Given the description of an element on the screen output the (x, y) to click on. 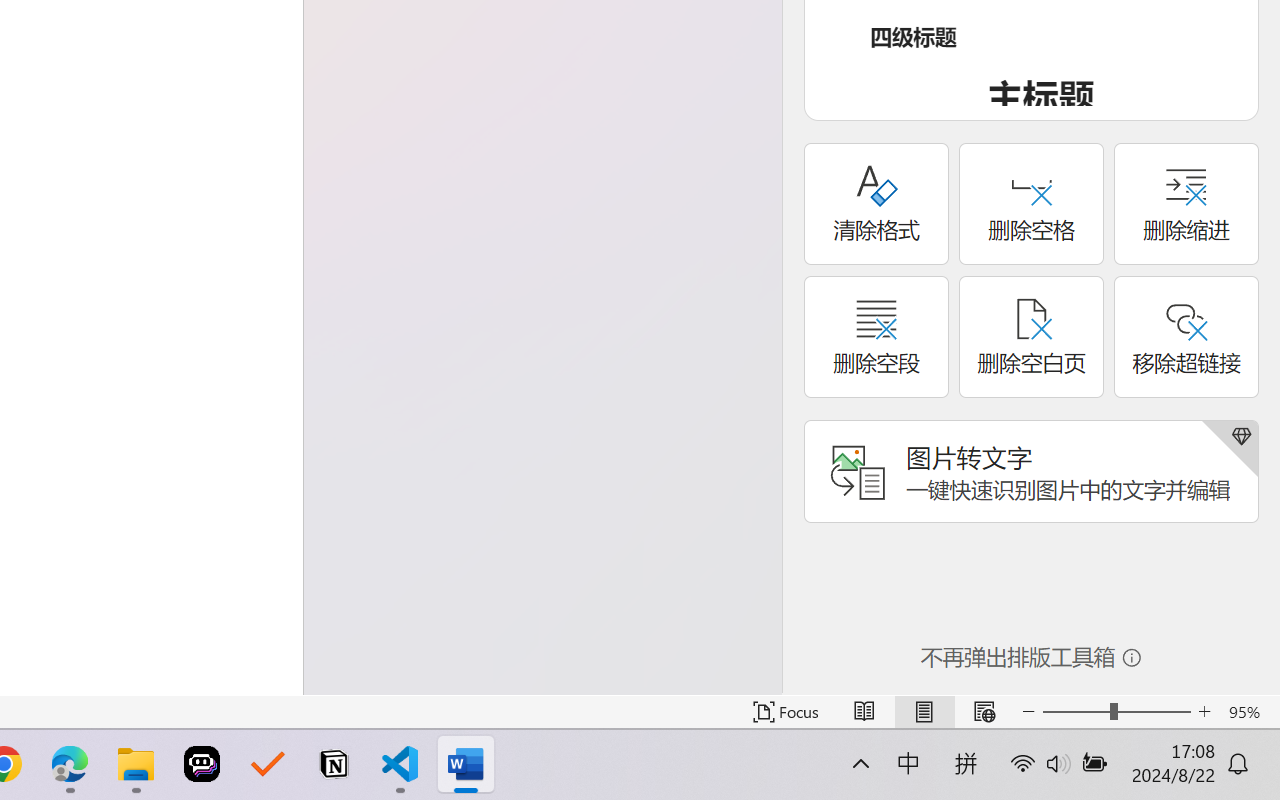
Zoom 95% (1249, 712)
